Given the description of an element on the screen output the (x, y) to click on. 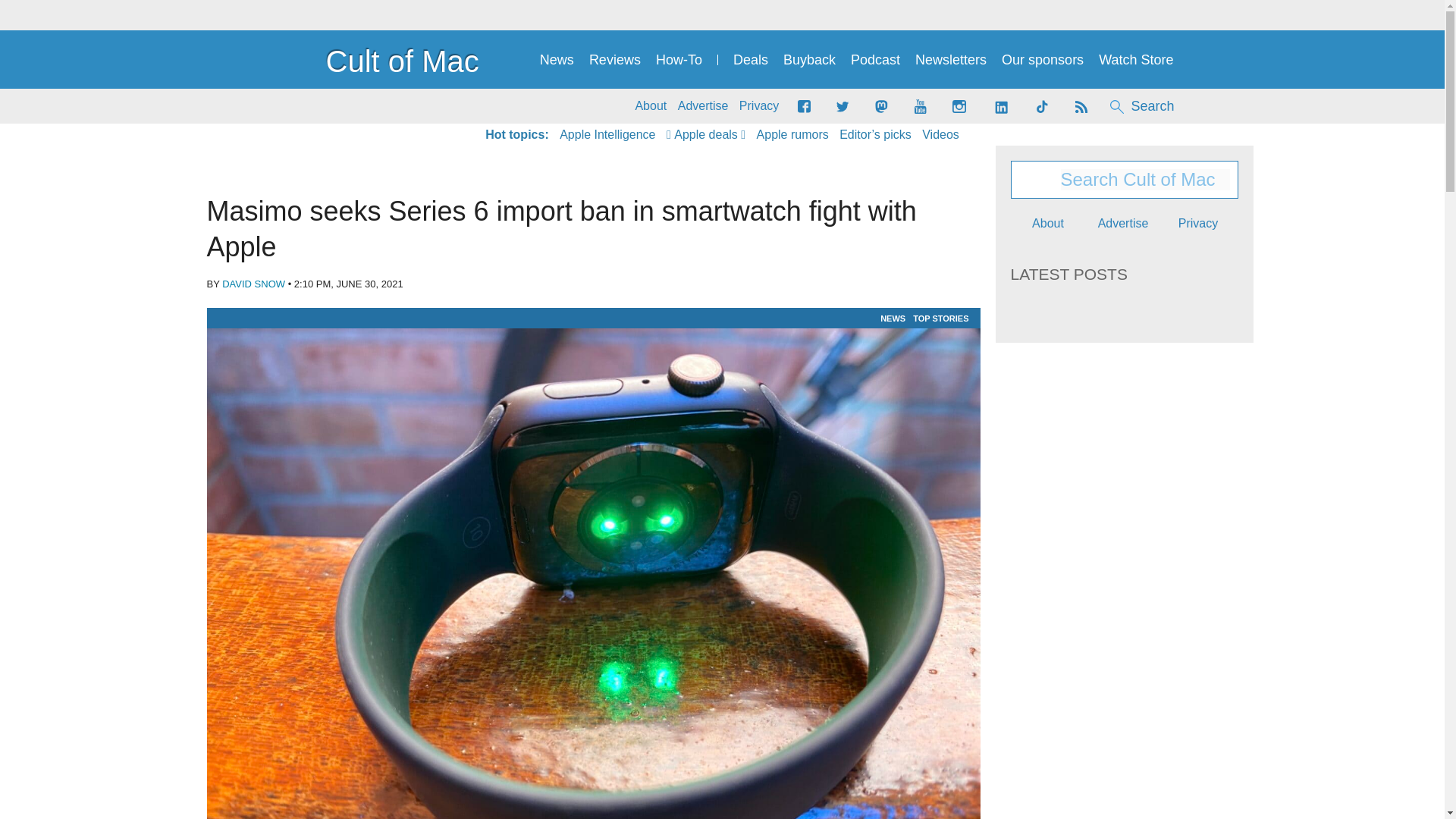
Apple deals  (705, 134)
Videos (940, 134)
Hot topics: (516, 134)
Posts by David Snow (253, 283)
Reviews (613, 59)
Podcast (875, 59)
Privacy (758, 105)
Deals (750, 59)
Apple Intelligence (607, 134)
